Given the description of an element on the screen output the (x, y) to click on. 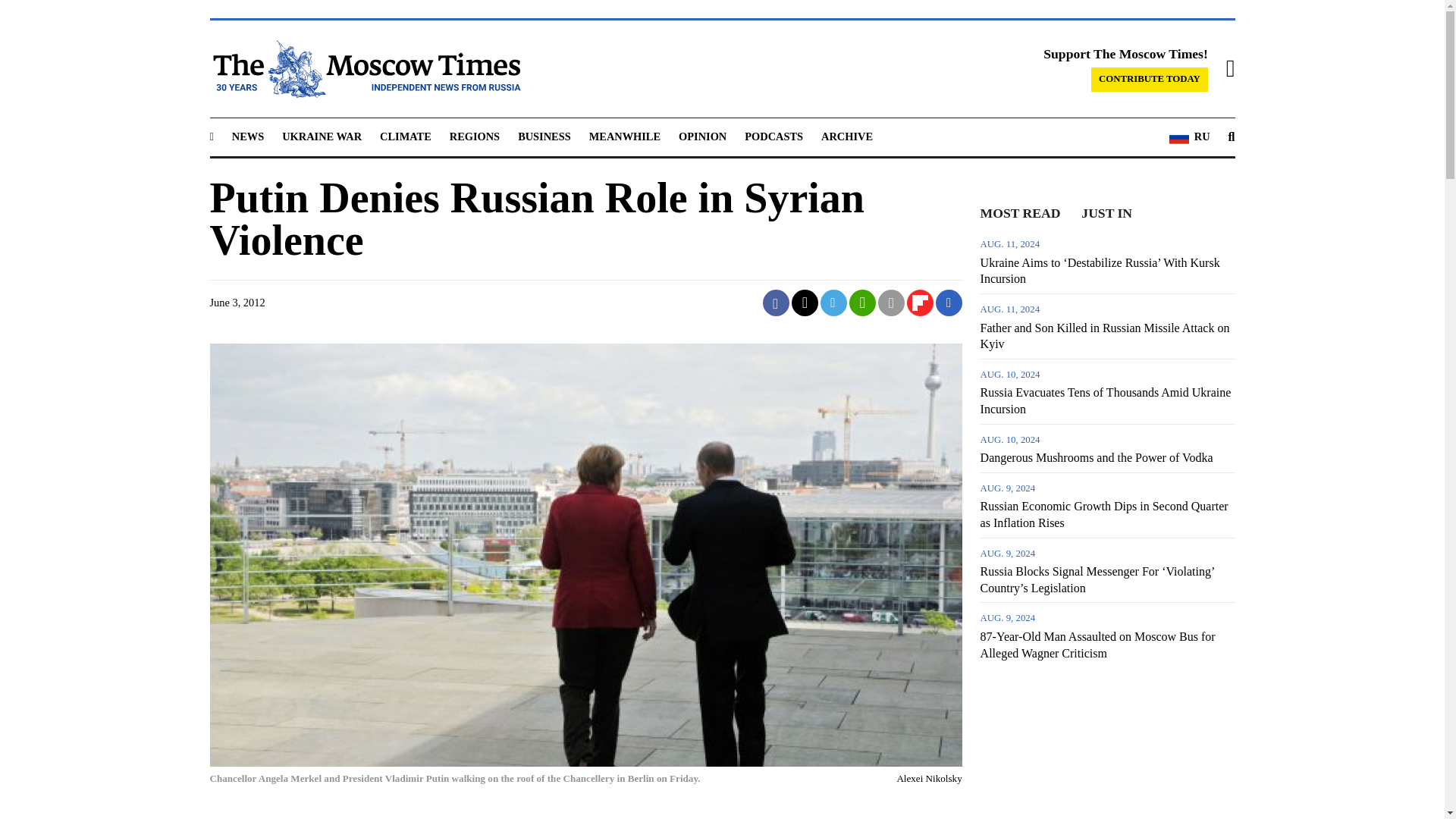
Father and Son Killed in Russian Missile Attack on Kyiv (1106, 325)
Share on Flipboard (920, 302)
UKRAINE WAR (321, 136)
BUSINESS (544, 136)
RU (1189, 137)
REGIONS (474, 136)
NEWS (247, 136)
Share on Twitter (805, 302)
MEANWHILE (625, 136)
ARCHIVE (846, 136)
